Given the description of an element on the screen output the (x, y) to click on. 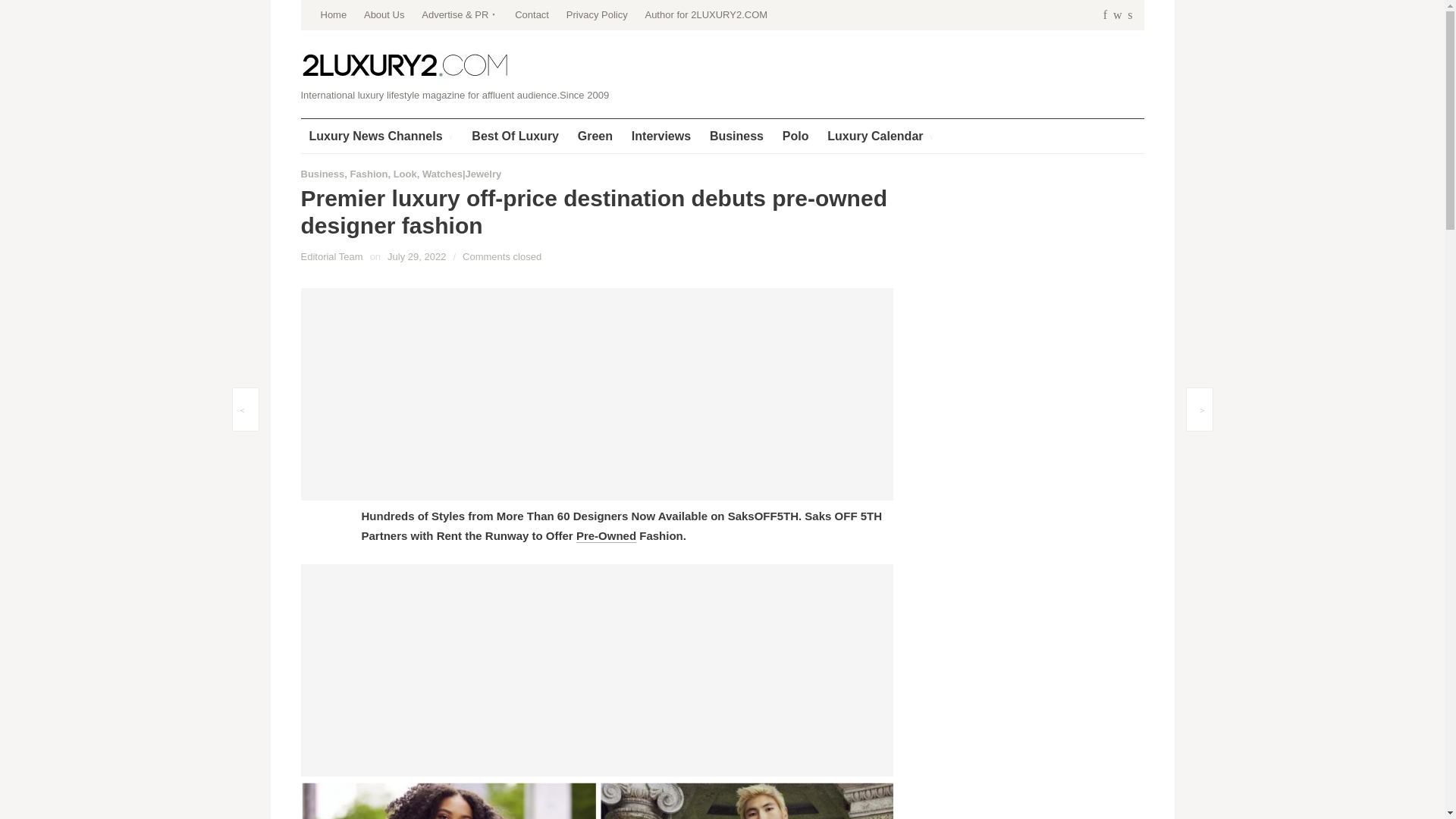
Best Of Luxury (515, 135)
Best of luxury (515, 135)
2LUXURY2.COM (405, 65)
Skip to content (336, 4)
Luxury Events Calendar (880, 135)
Author for 2LUXURY2.COM (706, 15)
2LUXURY2.COM (405, 65)
luxury news (380, 135)
Contact (531, 15)
Green (595, 135)
Privacy Policy (596, 15)
Green luxury (595, 135)
Polo (795, 135)
Business (736, 135)
Skip to content (336, 4)
